Given the description of an element on the screen output the (x, y) to click on. 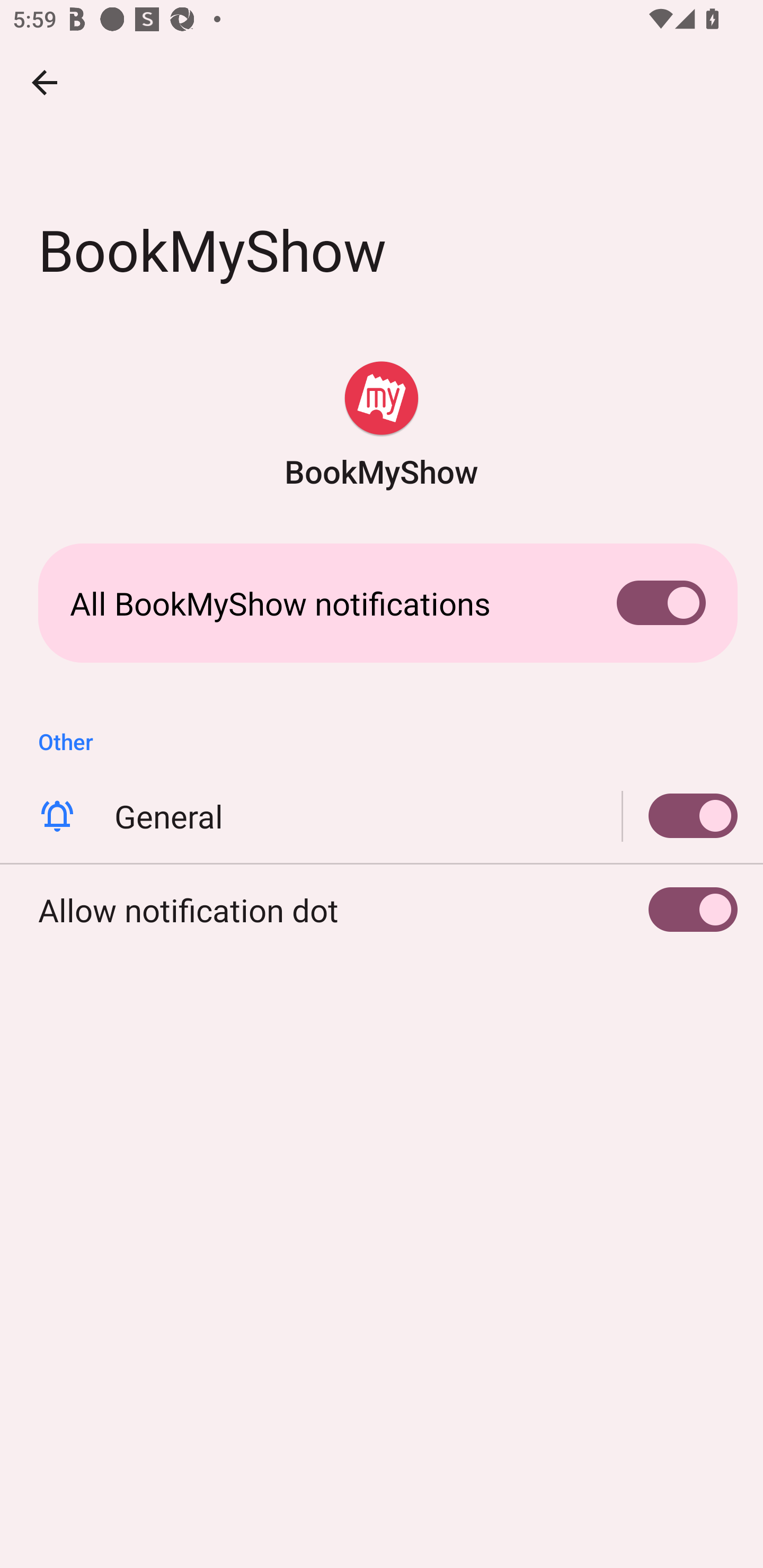
Navigate up (44, 82)
BookMyShow (381, 426)
All BookMyShow notifications (381, 602)
General (381, 815)
General (680, 815)
Allow notification dot (381, 909)
